Given the description of an element on the screen output the (x, y) to click on. 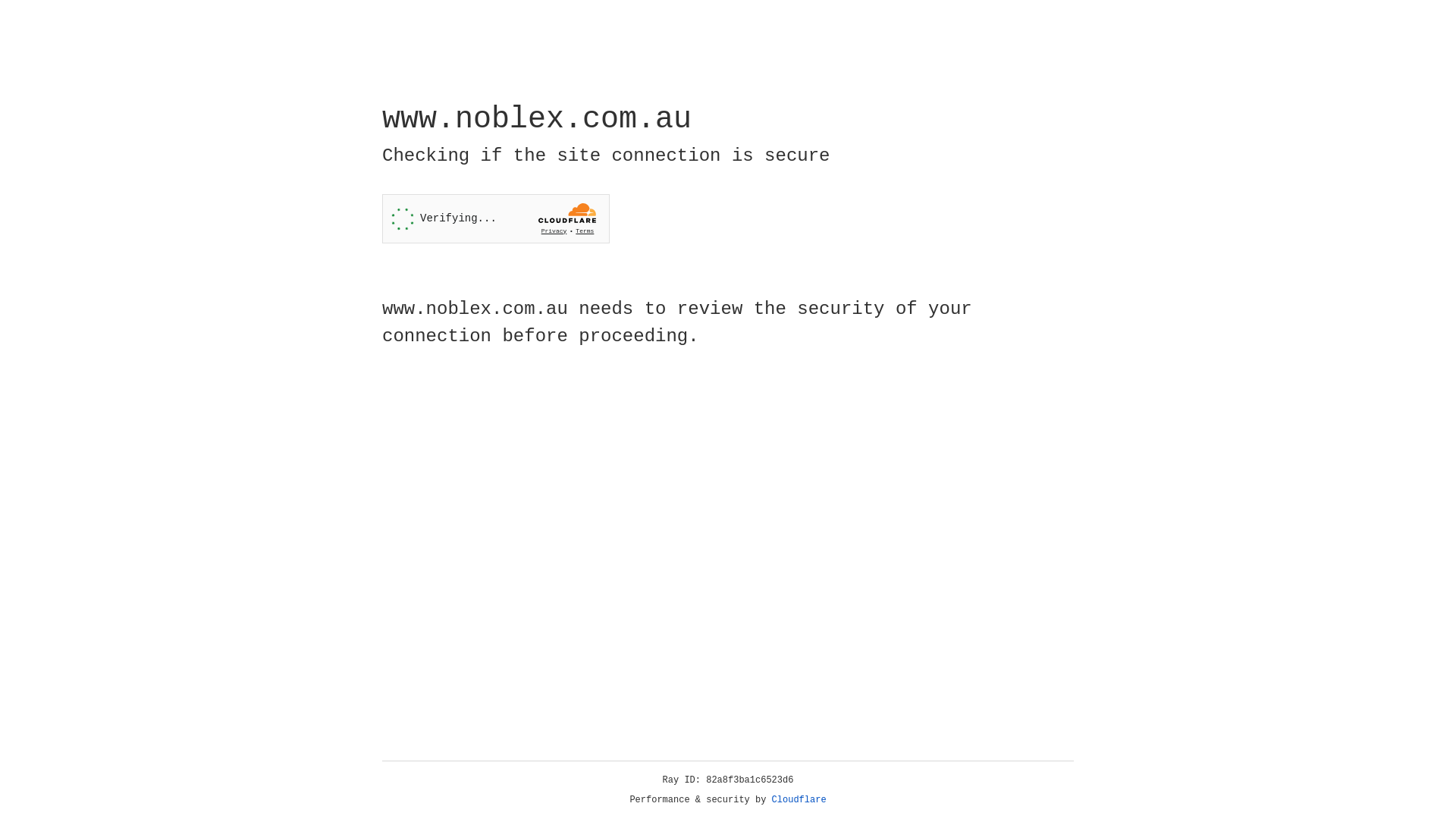
Widget containing a Cloudflare security challenge Element type: hover (495, 218)
Cloudflare Element type: text (798, 799)
